Given the description of an element on the screen output the (x, y) to click on. 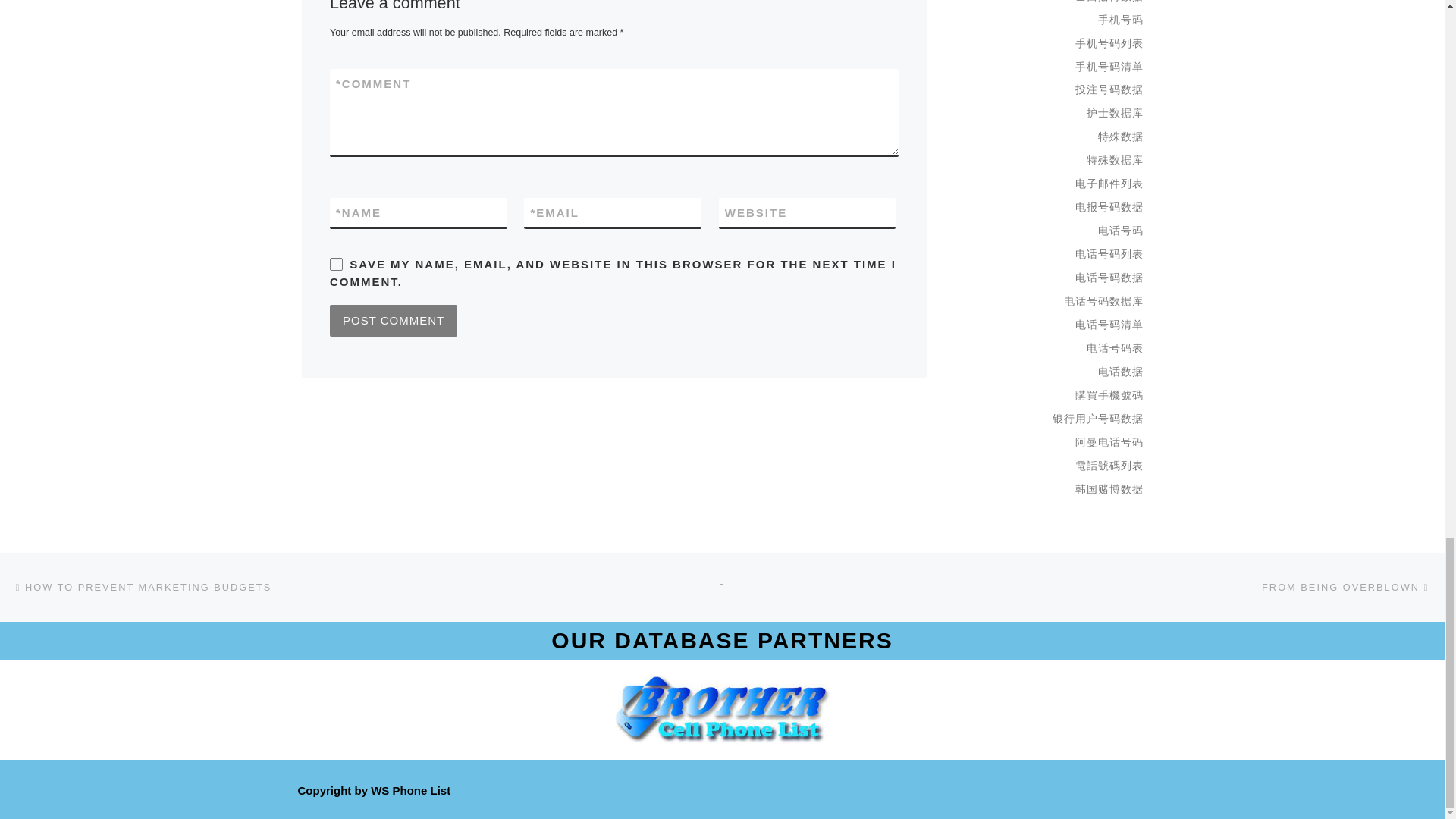
Post Comment (393, 320)
yes (336, 264)
